Given the description of an element on the screen output the (x, y) to click on. 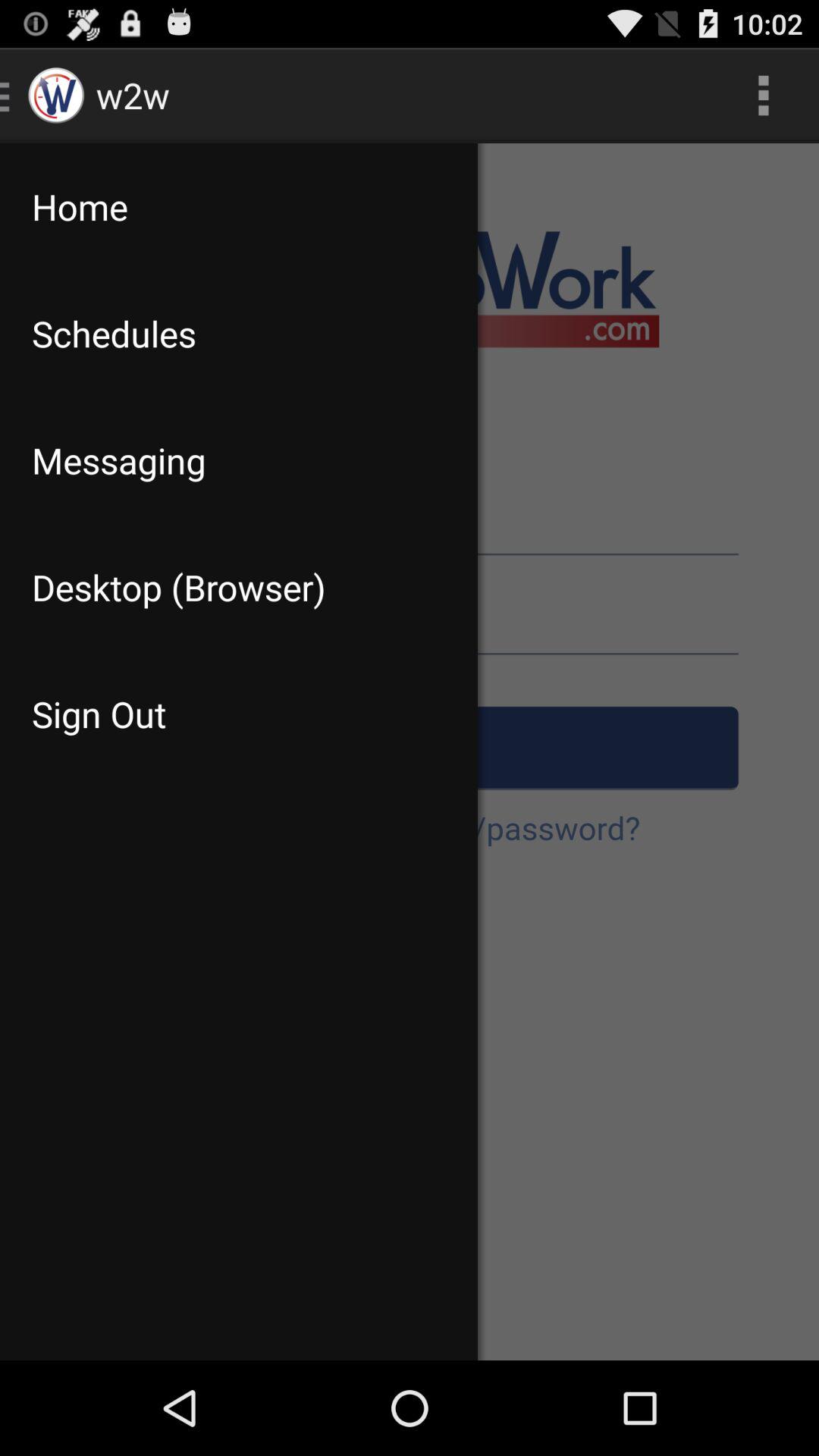
click the schedules icon (238, 333)
